Given the description of an element on the screen output the (x, y) to click on. 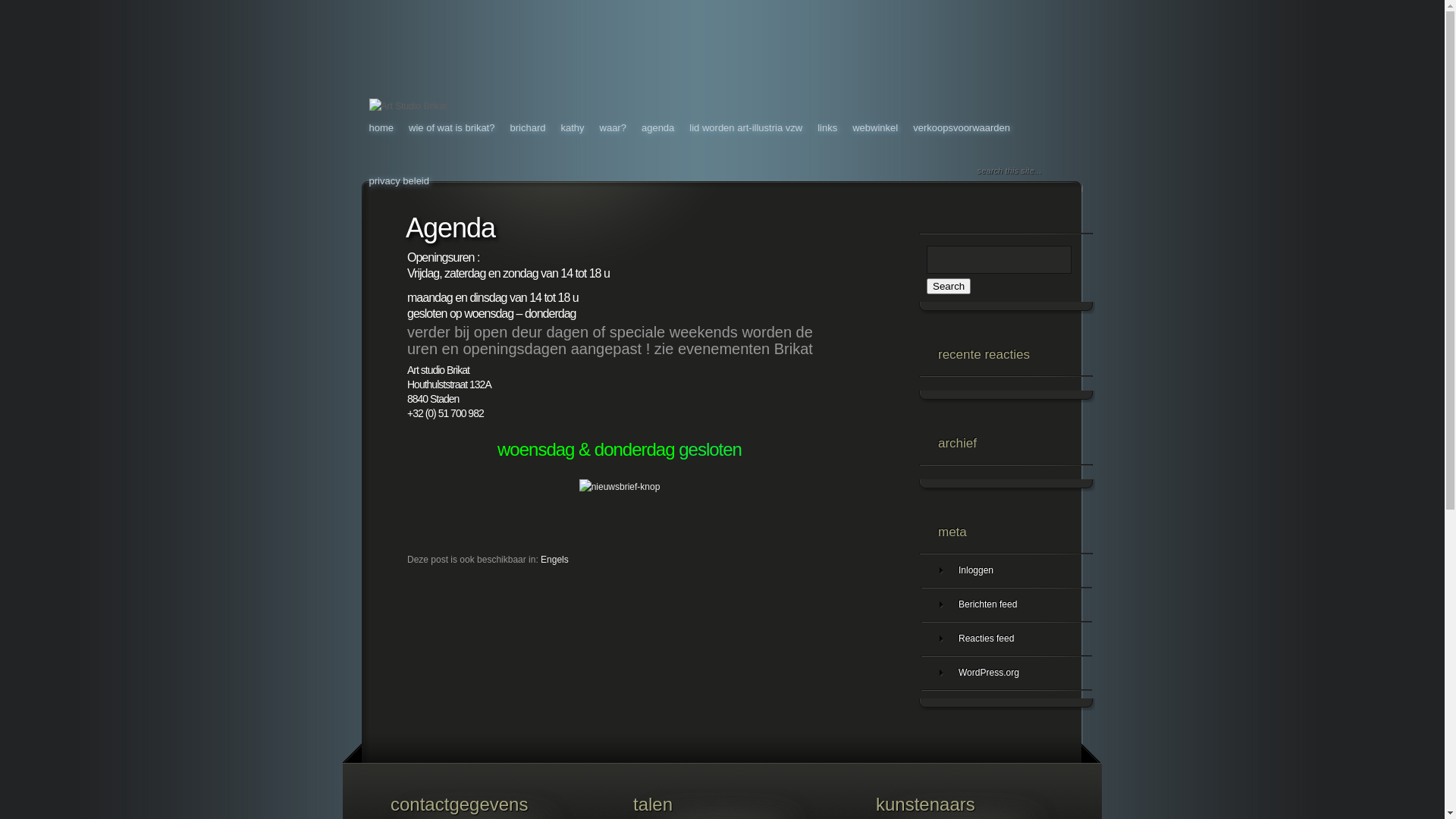
Search Element type: text (1068, 170)
kathy Element type: text (571, 126)
privacy beleid Element type: text (398, 180)
webwinkel Element type: text (874, 126)
Search Element type: text (948, 286)
links Element type: text (826, 126)
WordPress.org Element type: text (1006, 672)
verkoopsvoorwaarden Element type: text (961, 126)
home Element type: text (380, 126)
agenda Element type: text (657, 126)
Engels Element type: text (554, 559)
brichard Element type: text (527, 126)
wie of wat is brikat? Element type: text (451, 126)
waar? Element type: text (612, 126)
Inloggen Element type: text (1006, 570)
lid worden art-illustria vzw Element type: text (745, 126)
Reacties feed Element type: text (1006, 638)
Berichten feed Element type: text (1006, 604)
